Given the description of an element on the screen output the (x, y) to click on. 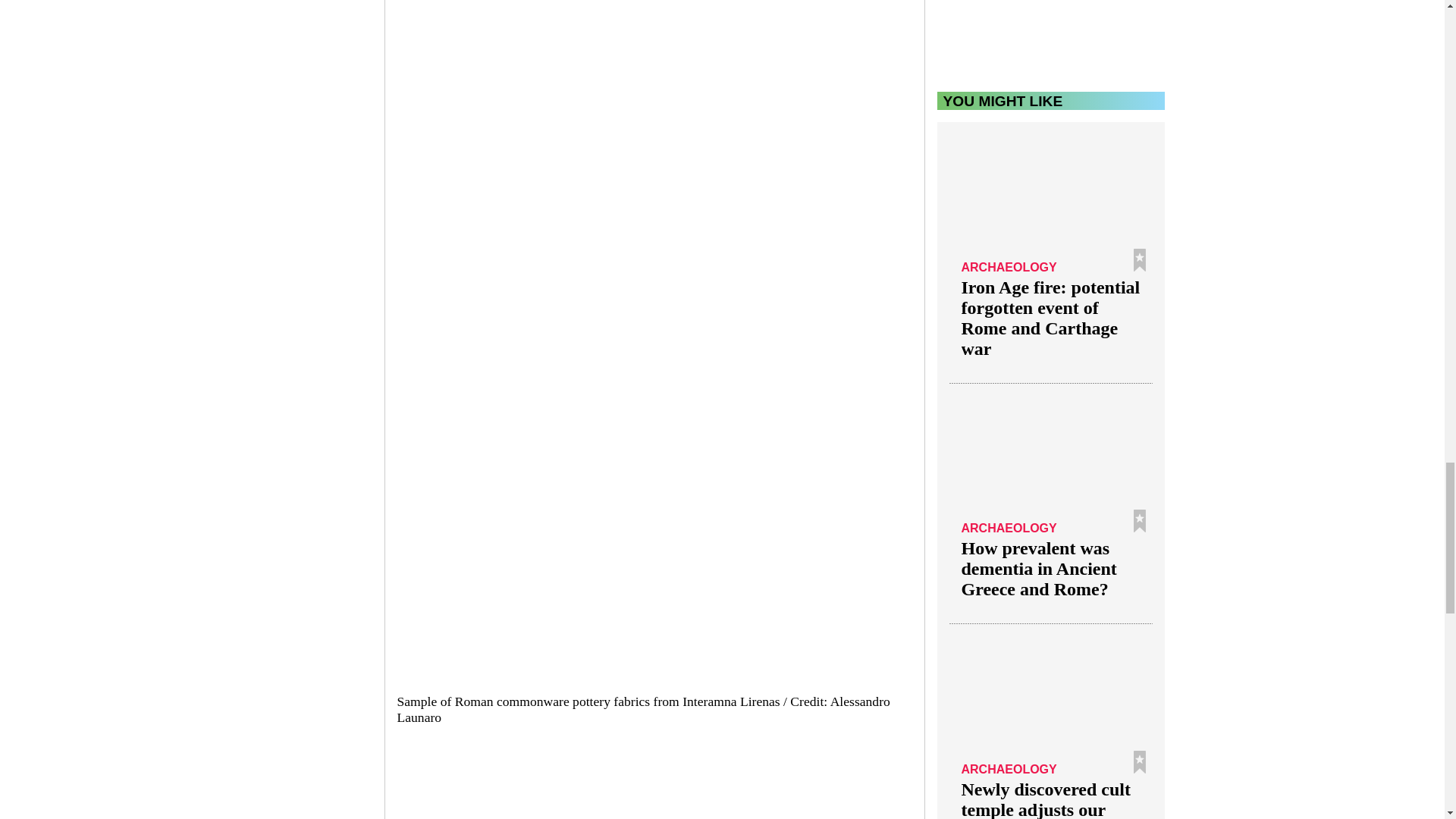
'unpromising' archaeological site rewrites roman history 5 (647, 784)
